Given the description of an element on the screen output the (x, y) to click on. 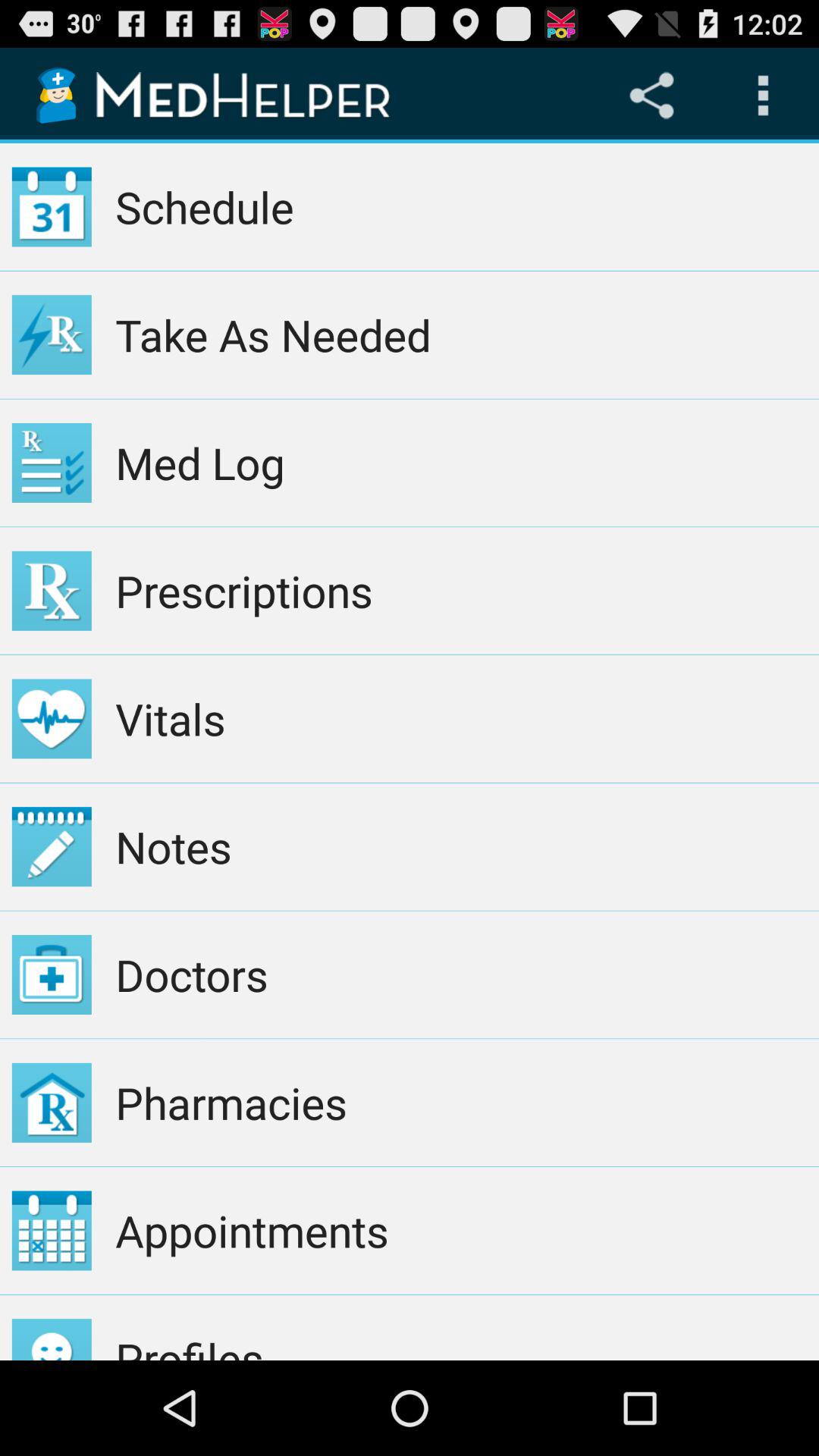
jump until appointments app (461, 1230)
